Given the description of an element on the screen output the (x, y) to click on. 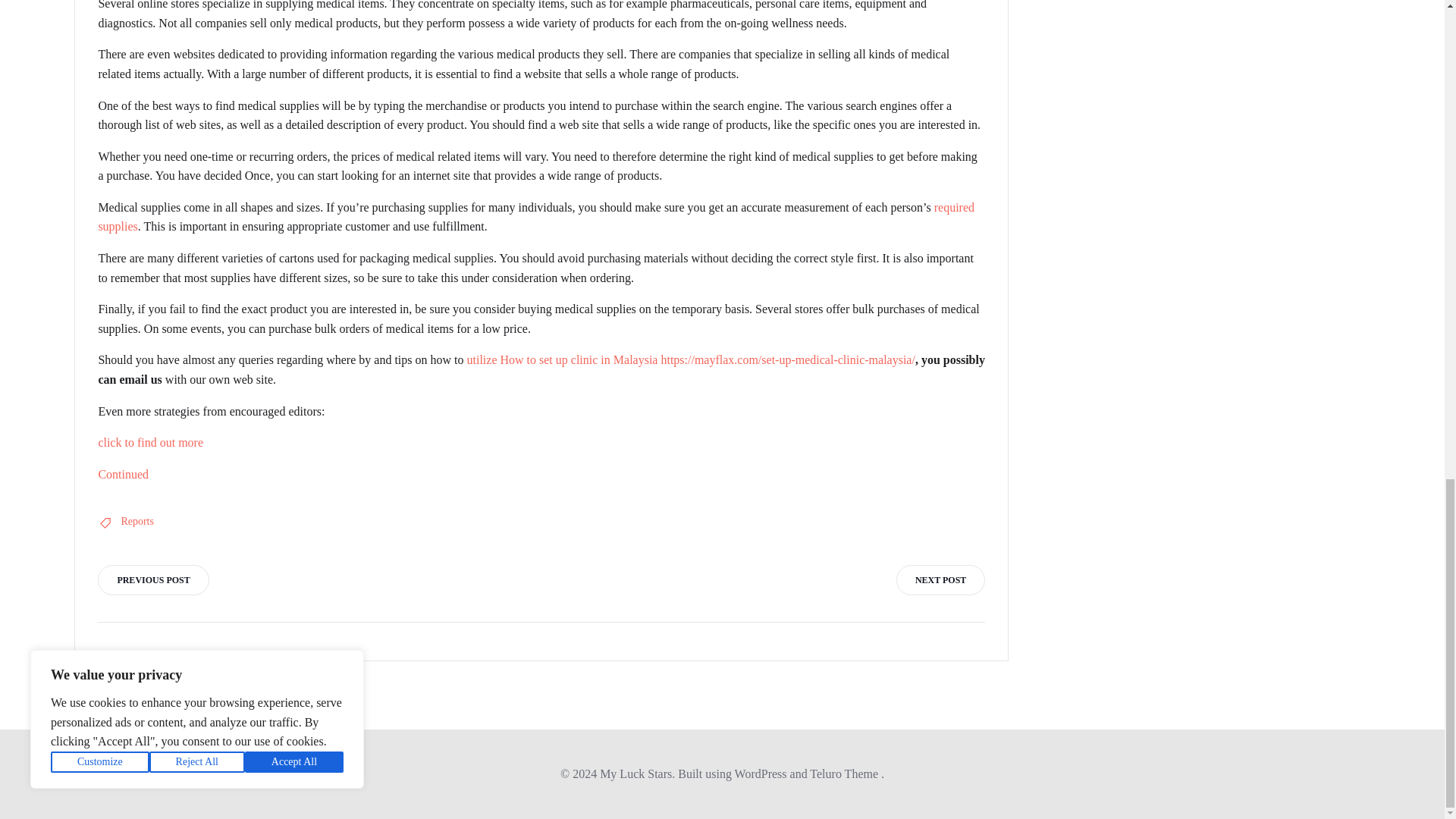
required supplies (535, 216)
Reports (137, 521)
NEXT POST (940, 580)
PREVIOUS POST (152, 580)
Continued (122, 473)
utilize (482, 359)
Tag: Reports (137, 521)
click to find out more (150, 441)
